Given the description of an element on the screen output the (x, y) to click on. 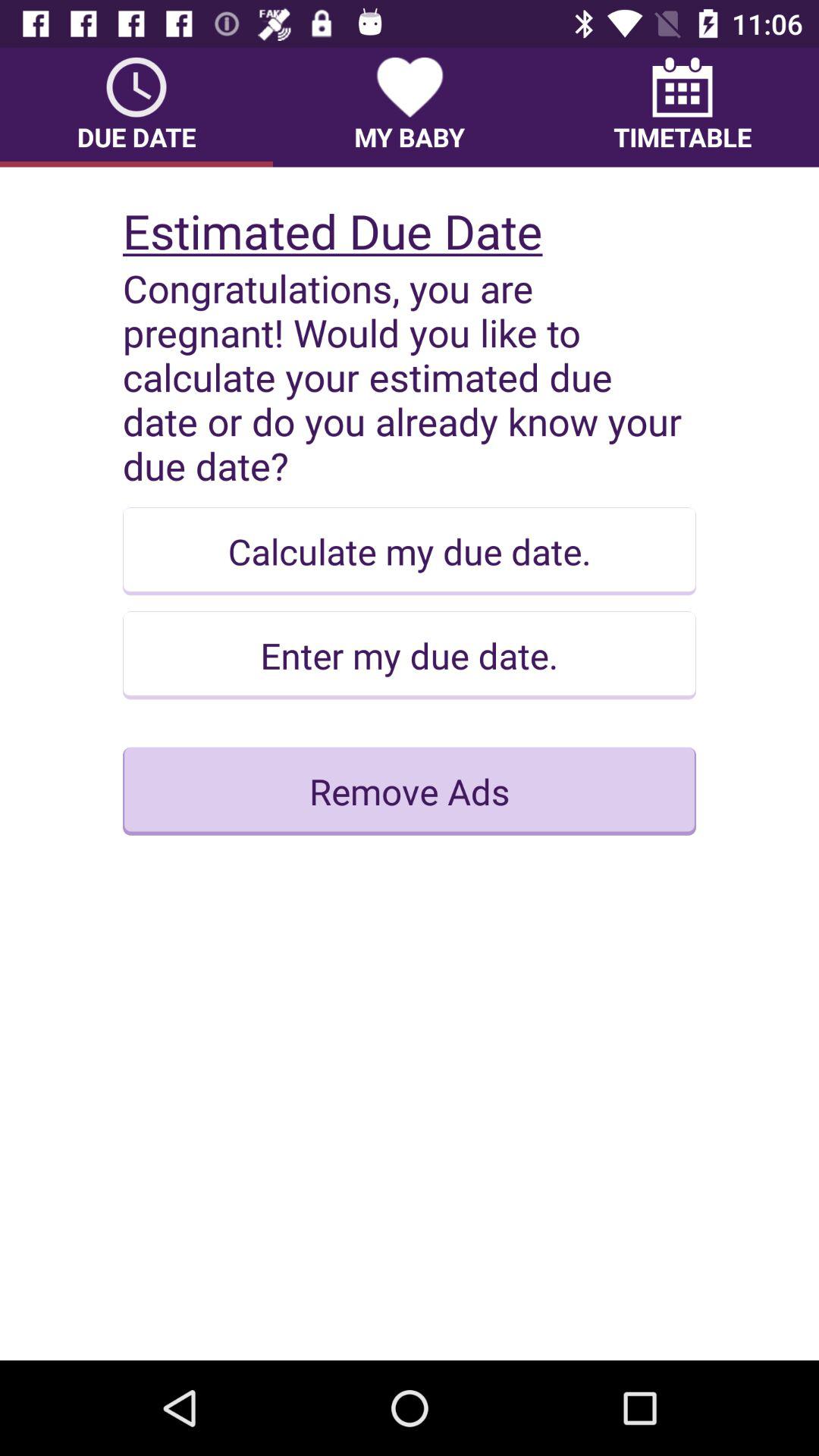
turn on the icon at the top right corner (682, 107)
